Given the description of an element on the screen output the (x, y) to click on. 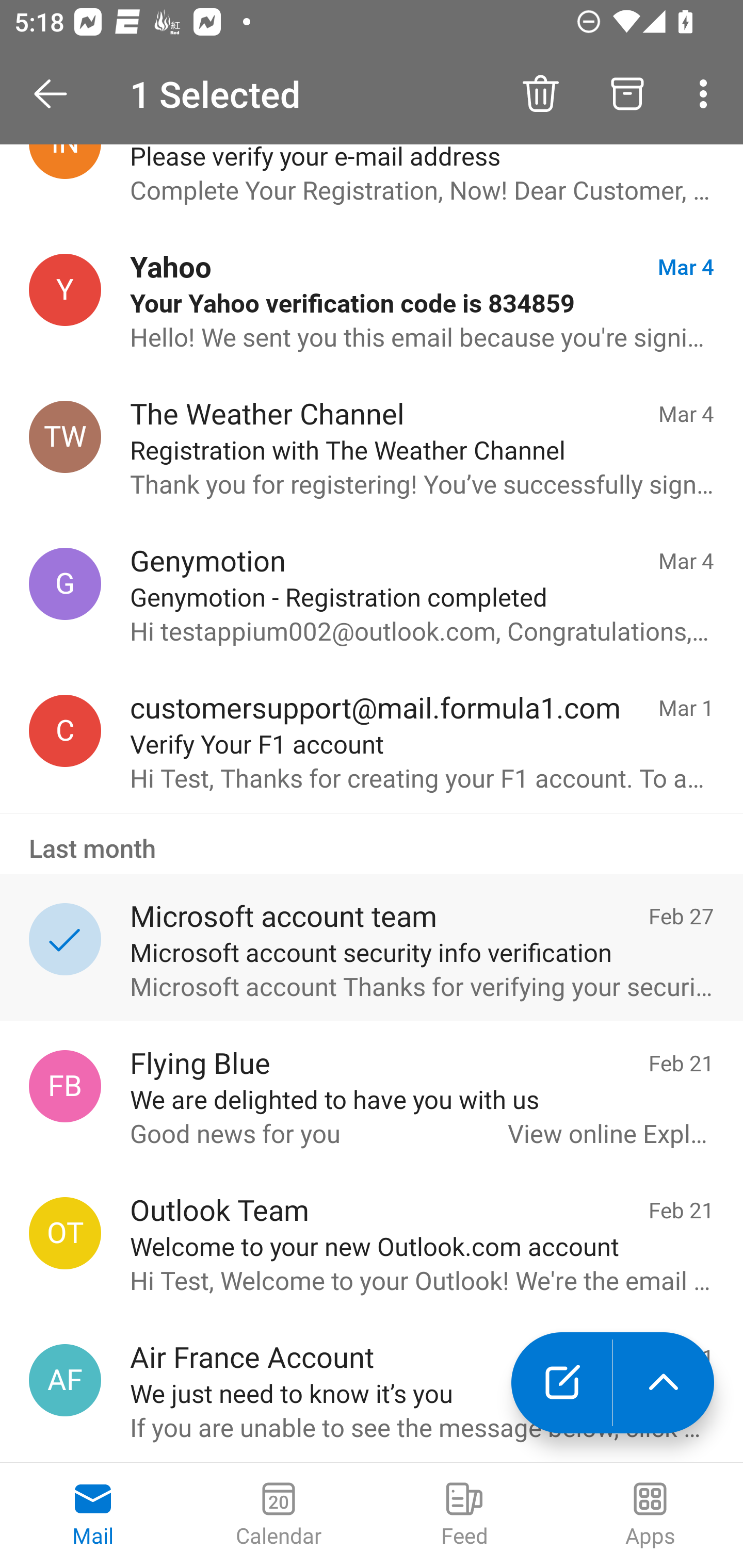
Delete (540, 93)
Archive (626, 93)
More options (706, 93)
Open Navigation Drawer (57, 94)
Yahoo, no-reply@cc.yahoo-inc.com (64, 290)
The Weather Channel, noreply@weather.com (64, 437)
Genymotion, genymotion-activation@genymobile.com (64, 583)
Flying Blue, do_not_reply@info-flyingblue.com (64, 1086)
Outlook Team, no-reply@microsoft.com (64, 1233)
New mail (561, 1382)
launch the extended action menu (663, 1382)
Air France Account, account@infos-airfrance.com (64, 1379)
Calendar (278, 1515)
Feed (464, 1515)
Apps (650, 1515)
